Given the description of an element on the screen output the (x, y) to click on. 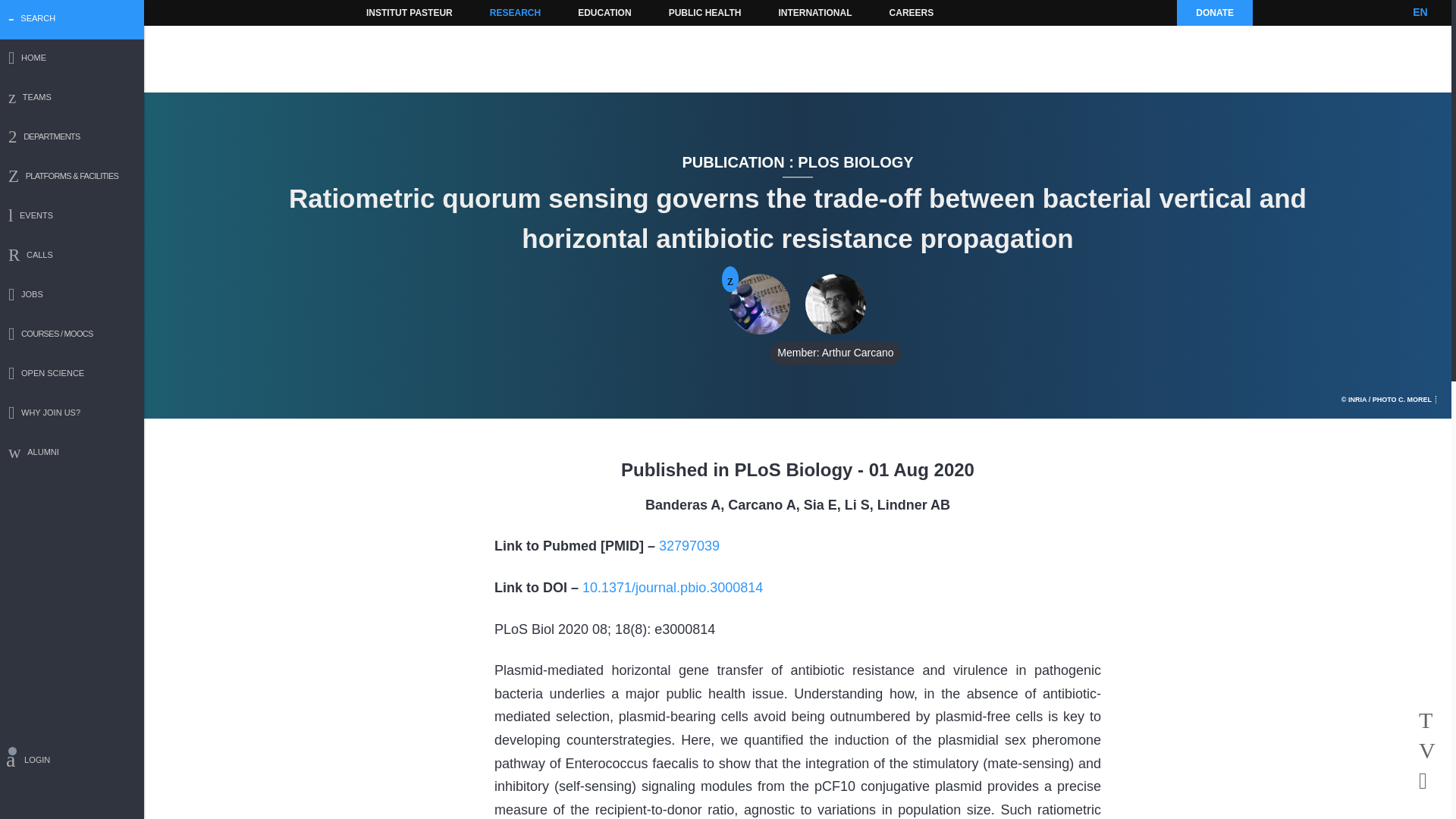
WHY JOIN US? (72, 413)
32797039 (689, 545)
PUBLIC HEALTH (705, 12)
OPEN SCIENCE (72, 374)
INTERNATIONAL (814, 12)
Skip to content (387, 11)
CALLS (72, 256)
ALUMNI (72, 454)
Member: Arthur Carcano (835, 304)
INSTITUT PASTEUR (409, 12)
